Given the description of an element on the screen output the (x, y) to click on. 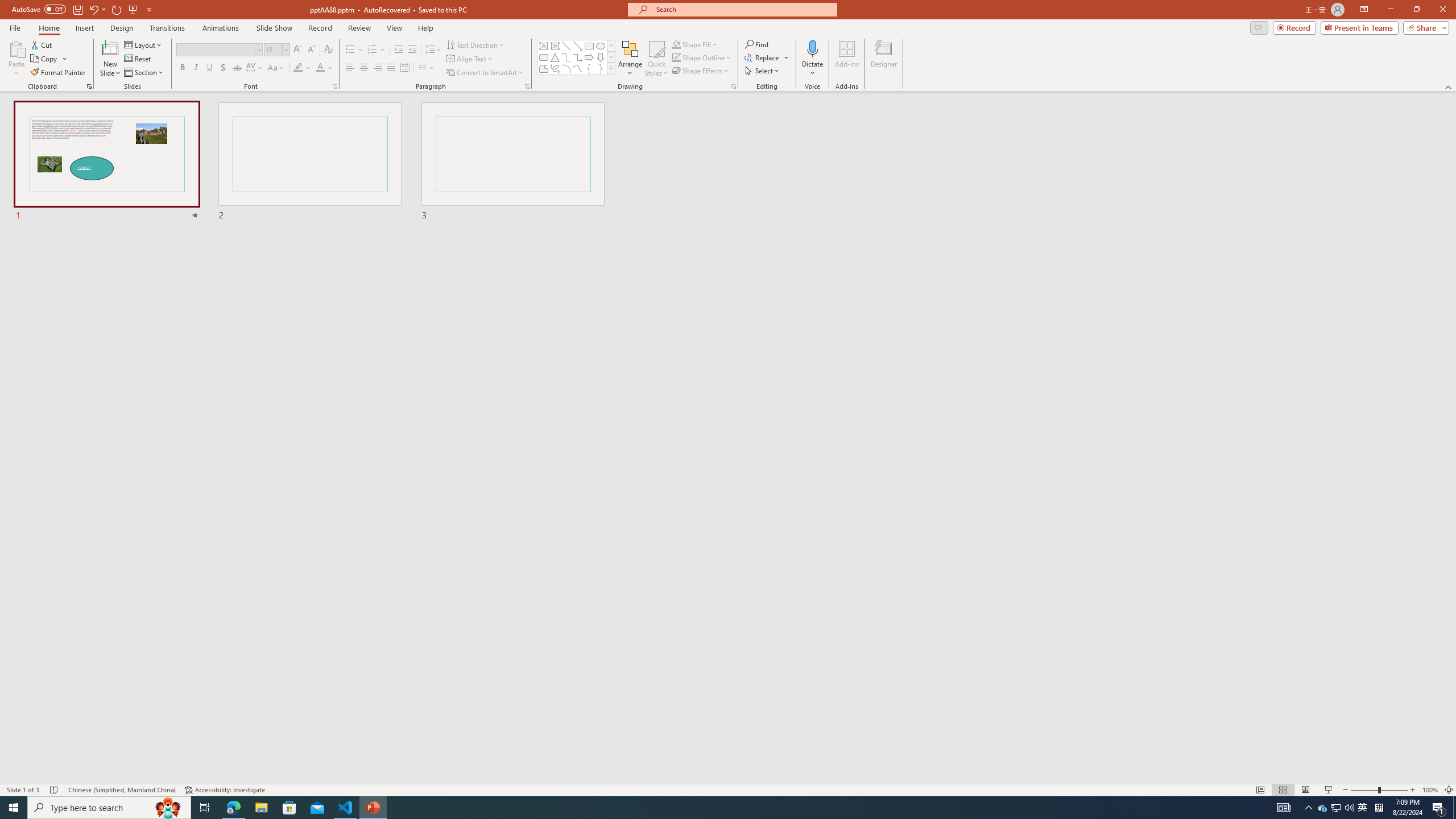
Justify (390, 67)
Arc (566, 68)
Vertical Text Box (554, 45)
Columns (426, 67)
Strikethrough (237, 67)
